Given the description of an element on the screen output the (x, y) to click on. 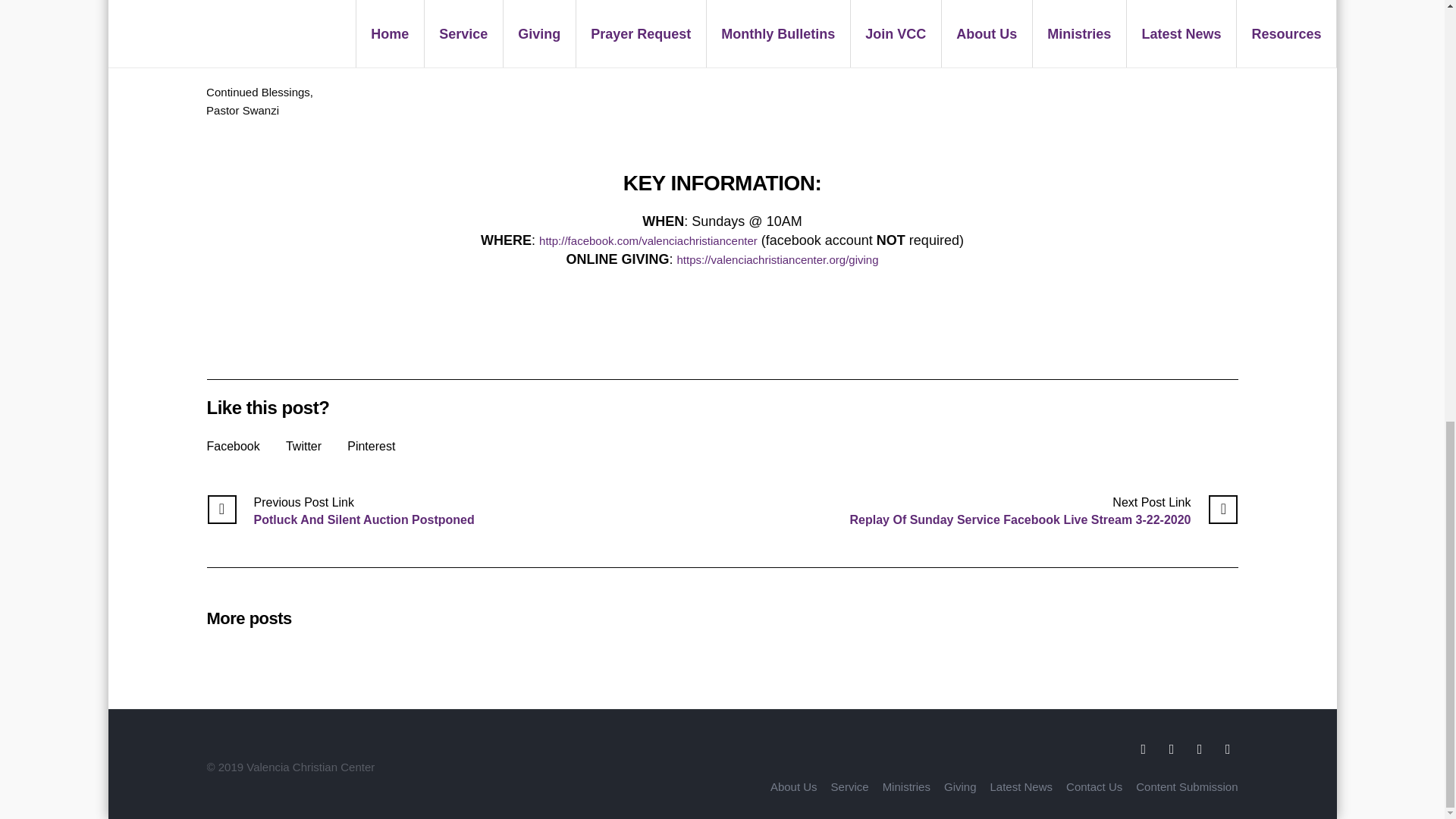
Replay Of Sunday Service Facebook Live Stream 3-22-2020 (1044, 510)
Twitter (303, 445)
Potluck And Silent Auction Postponed (340, 510)
Pinterest (370, 445)
Facebook (232, 445)
